Given the description of an element on the screen output the (x, y) to click on. 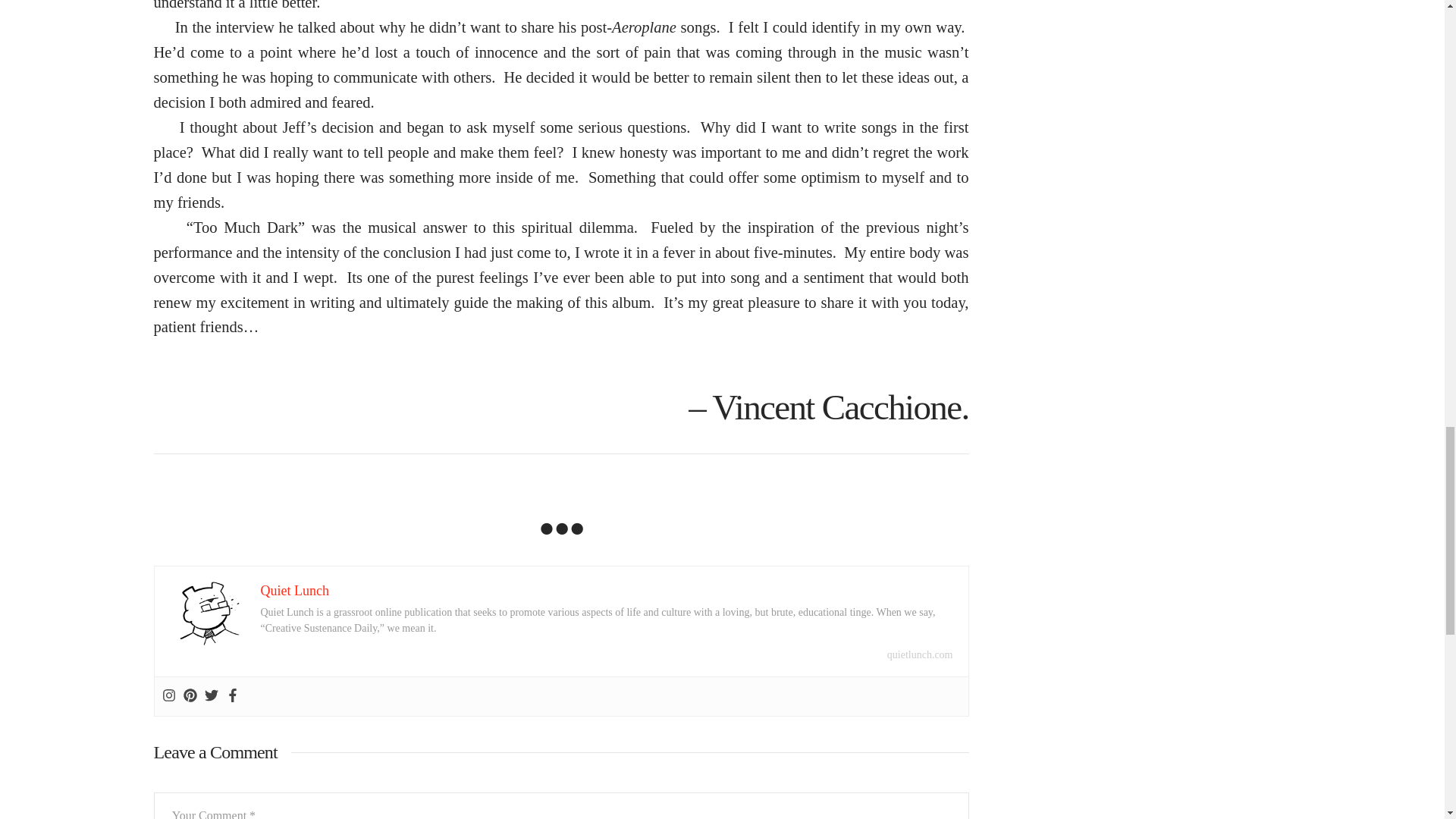
Pinterest (189, 696)
Twitter (211, 696)
Facebook (232, 696)
Instagram (168, 696)
